Given the description of an element on the screen output the (x, y) to click on. 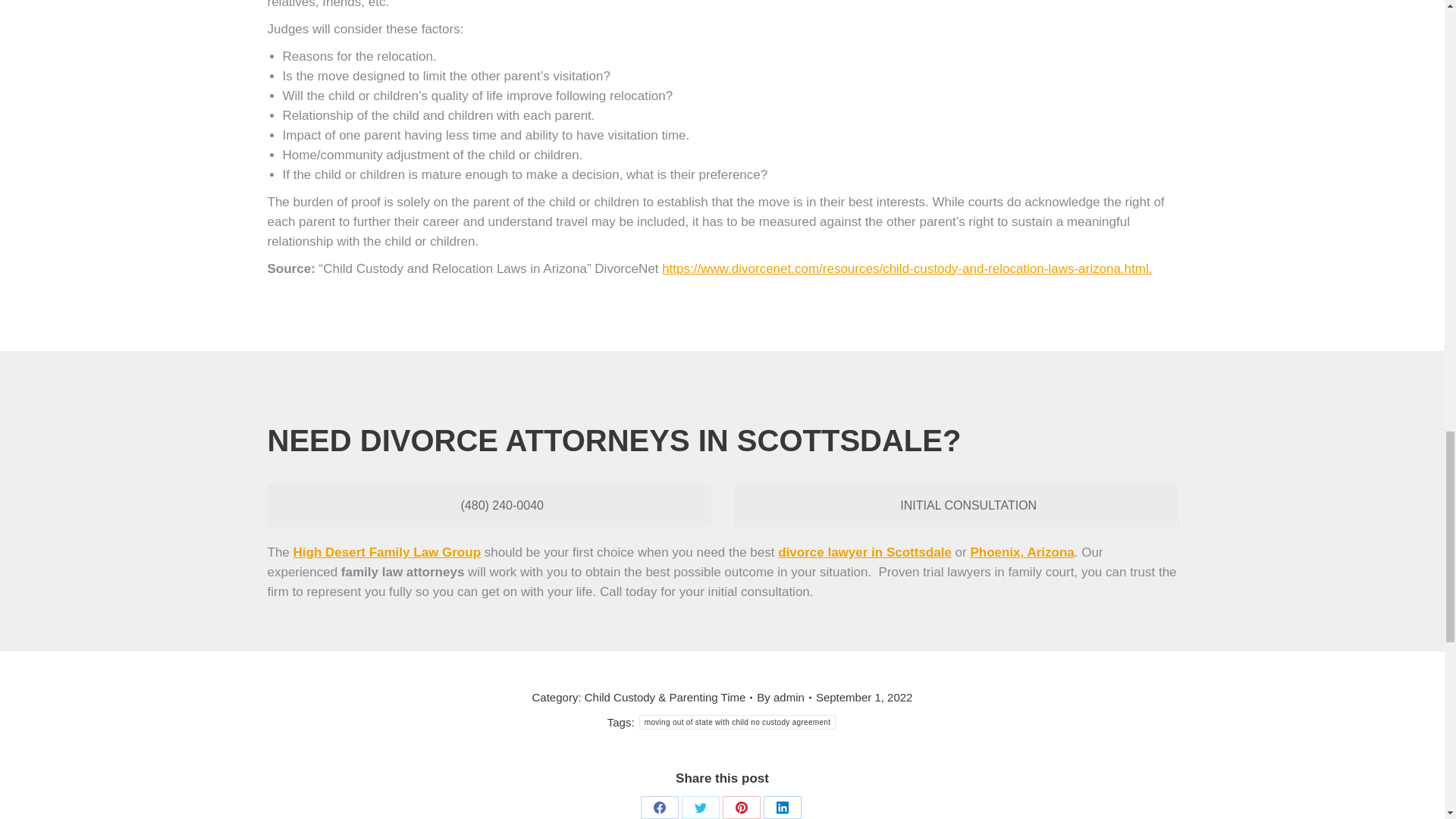
Facebook (659, 807)
6:13 pm (863, 697)
LinkedIn (781, 807)
Pinterest (741, 807)
View all posts by admin (783, 697)
Twitter (700, 807)
